Given the description of an element on the screen output the (x, y) to click on. 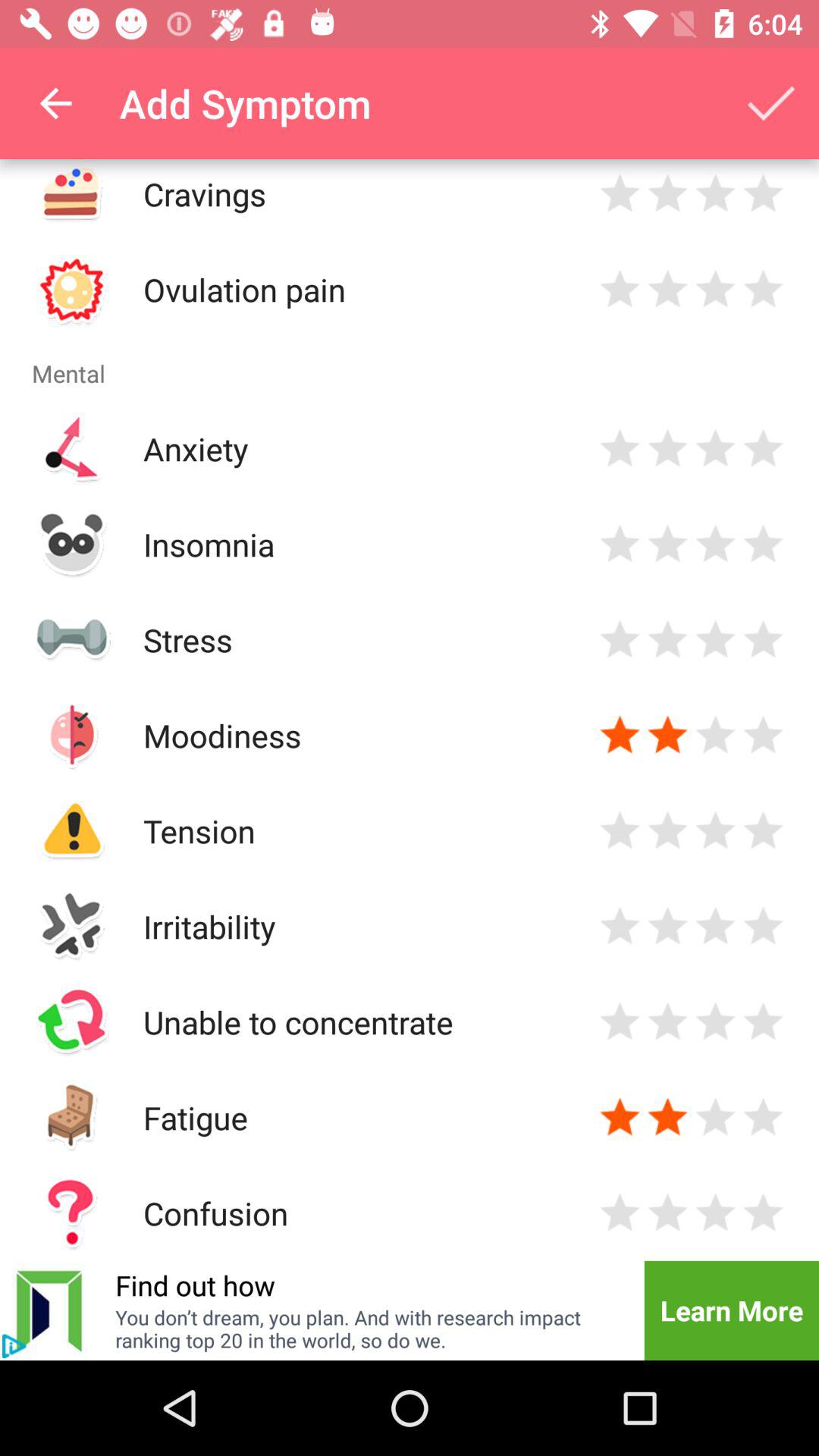
select mental anxiety level (715, 448)
